Given the description of an element on the screen output the (x, y) to click on. 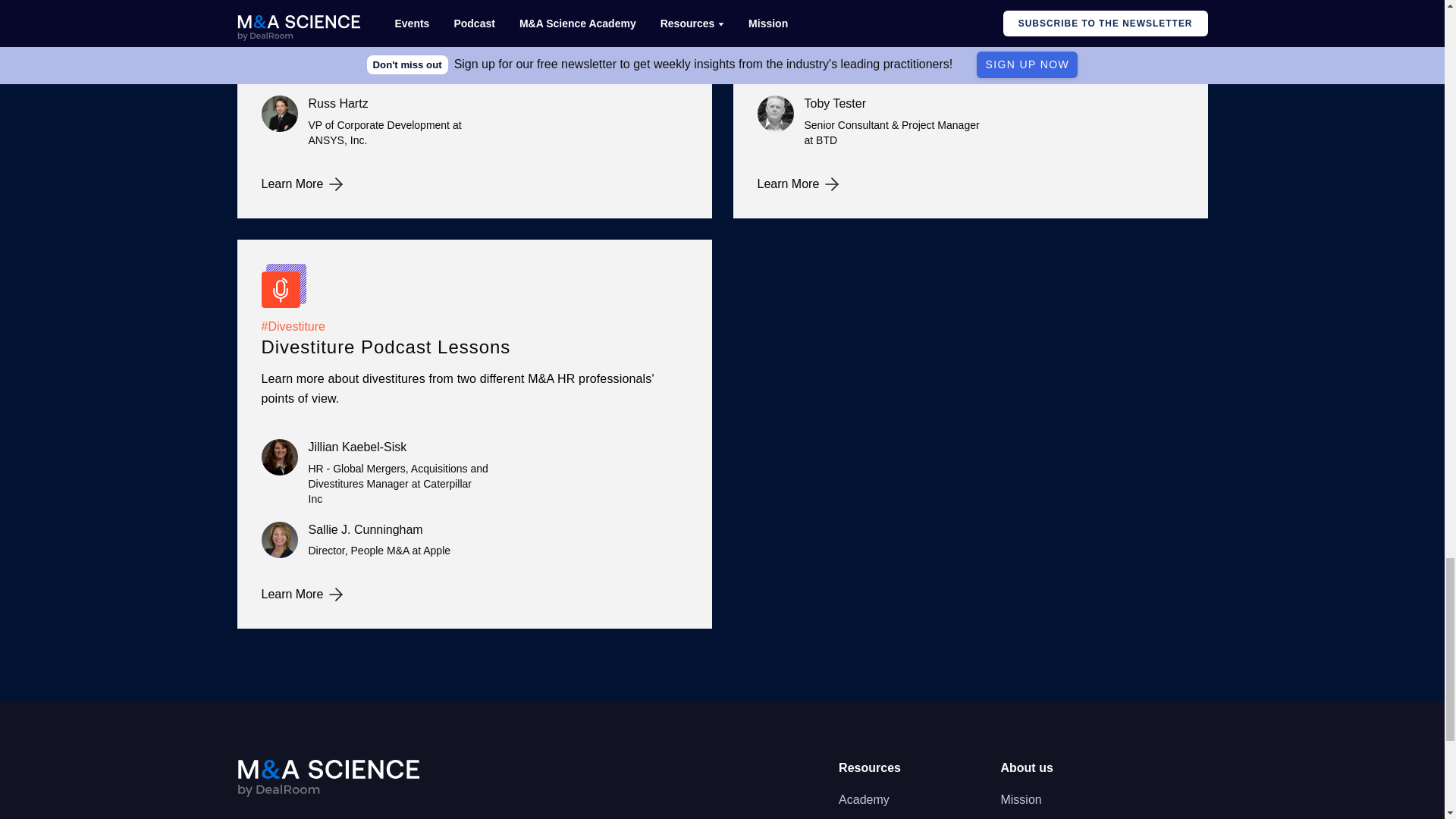
Academy (863, 799)
Learn More (473, 184)
Learn More (969, 184)
Podcast (860, 816)
Mission (1020, 799)
Learn More (473, 594)
